Given the description of an element on the screen output the (x, y) to click on. 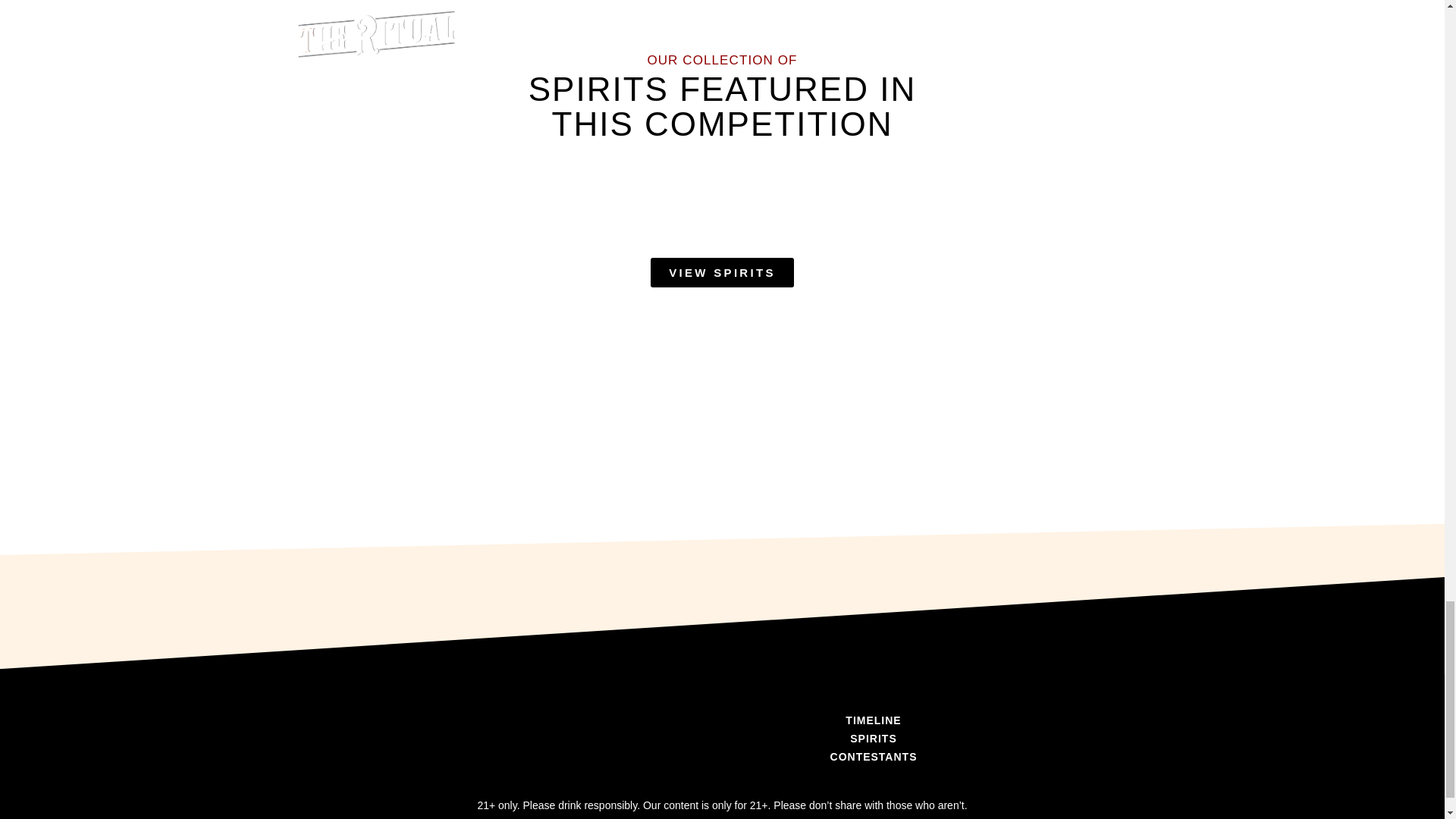
SPIRITS (873, 738)
VIEW SPIRITS (721, 272)
TIMELINE (873, 720)
